Given the description of an element on the screen output the (x, y) to click on. 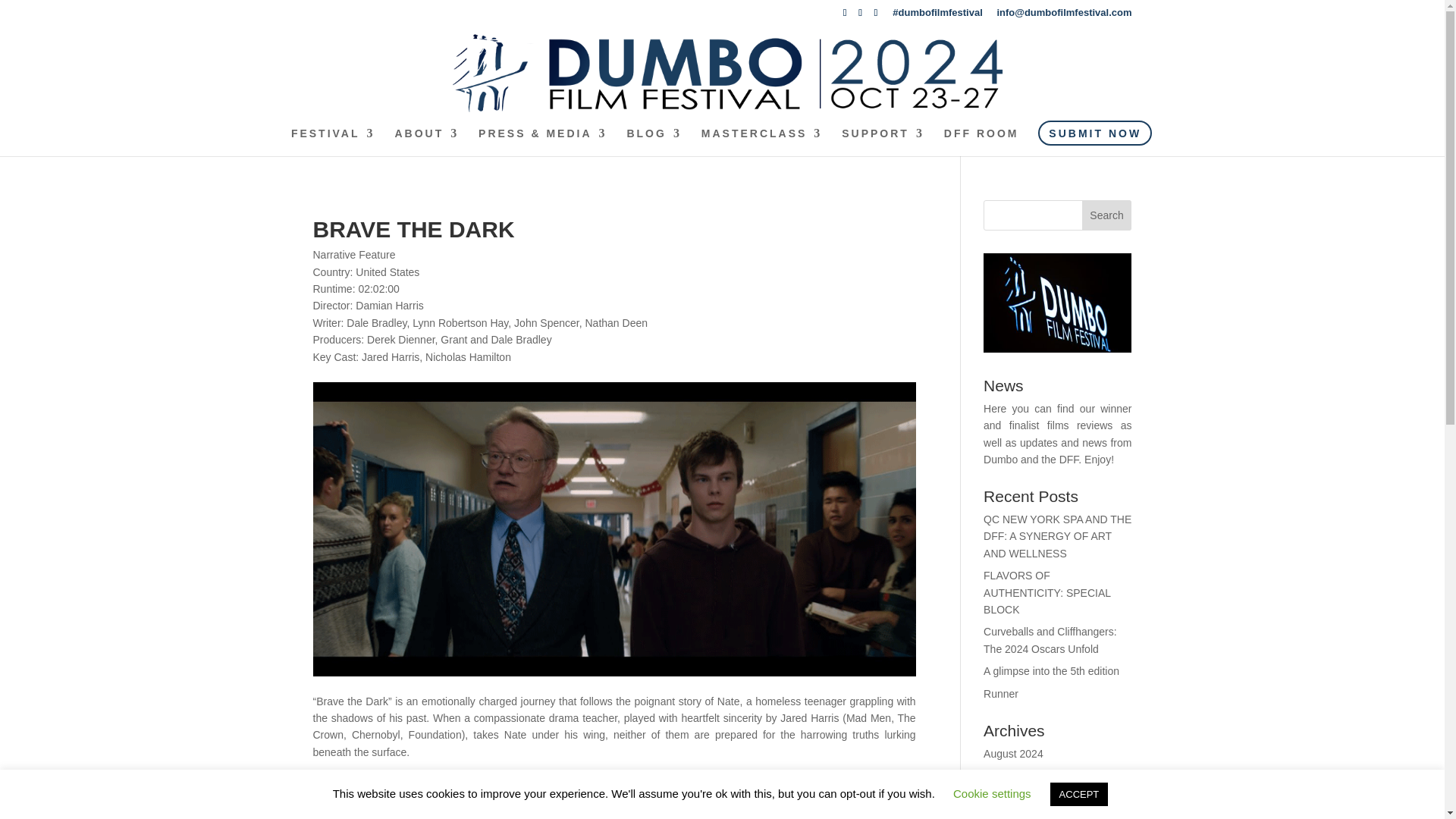
Search (1106, 214)
ABOUT (426, 141)
FESTIVAL (333, 141)
